Given the description of an element on the screen output the (x, y) to click on. 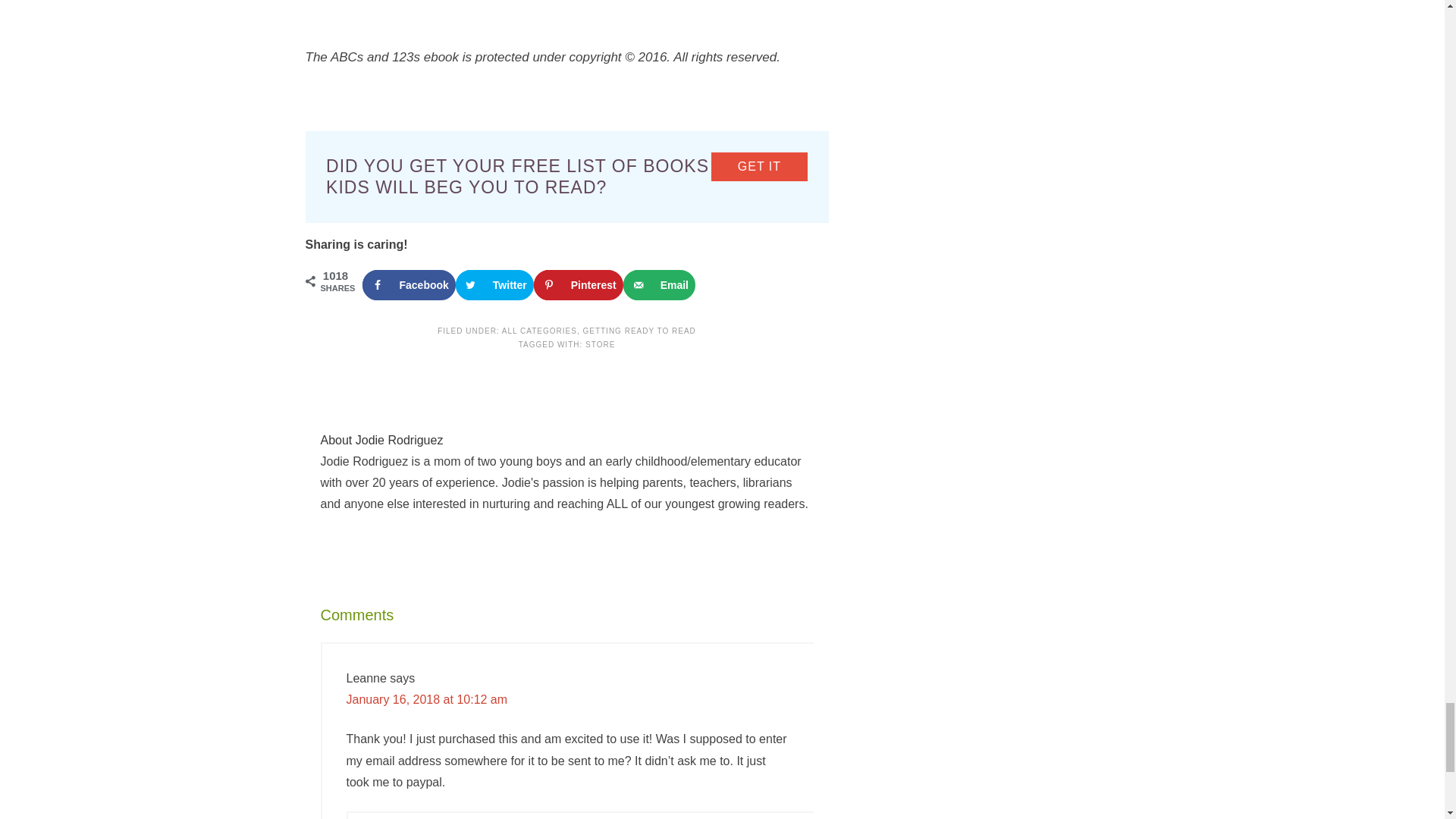
Send over email (659, 285)
Share on Twitter (494, 285)
Share on Facebook (408, 285)
Save to Pinterest (578, 285)
